Given the description of an element on the screen output the (x, y) to click on. 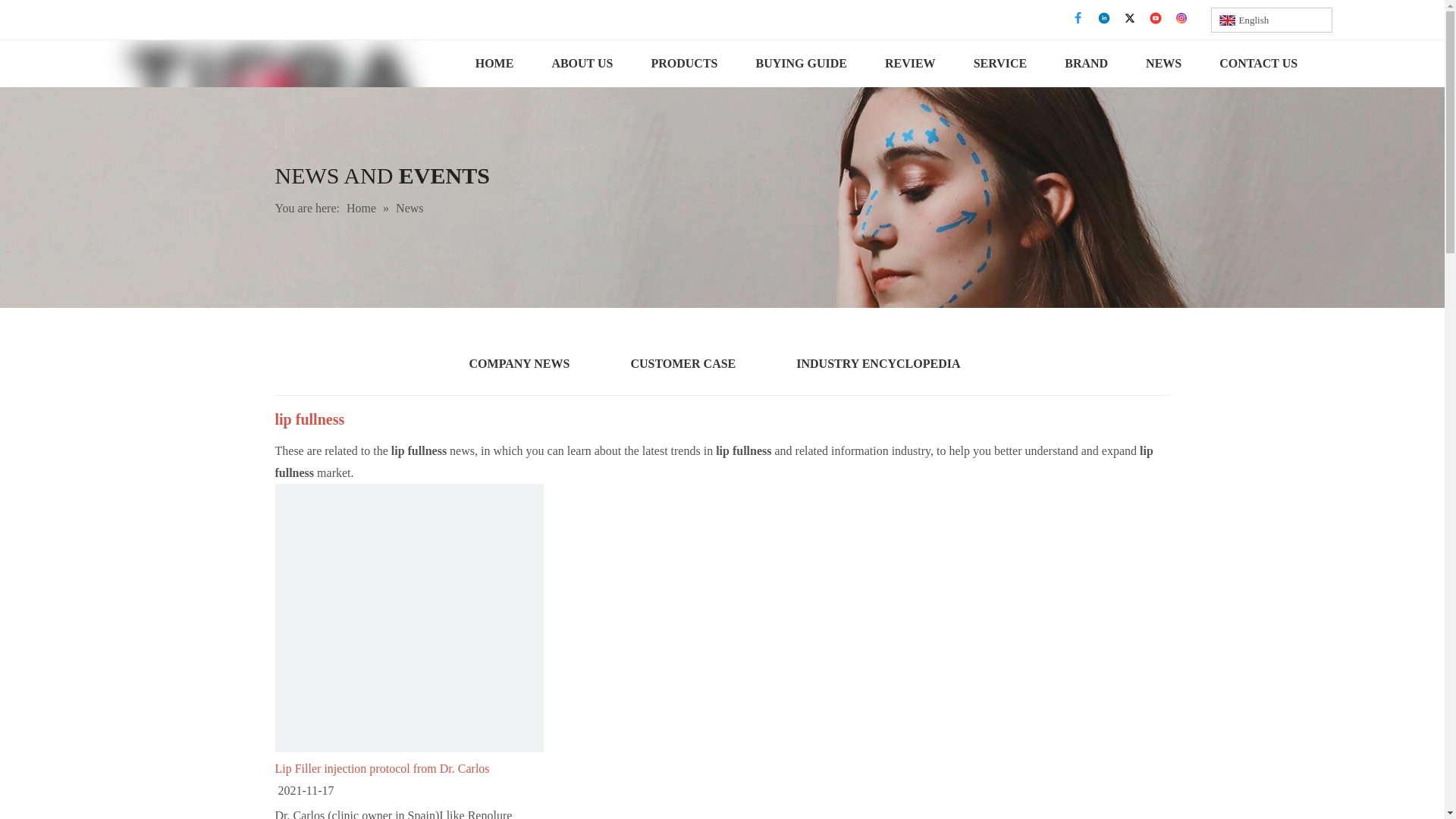
PRODUCTS (683, 63)
INDUSTRY ENCYCLOPEDIA (877, 368)
Lip Filler injection protocol from Dr. Carlos (409, 768)
ABOUT US (581, 63)
HOME (494, 63)
CUSTOMER CASE (682, 368)
COMPANY NEWS (519, 368)
